Given the description of an element on the screen output the (x, y) to click on. 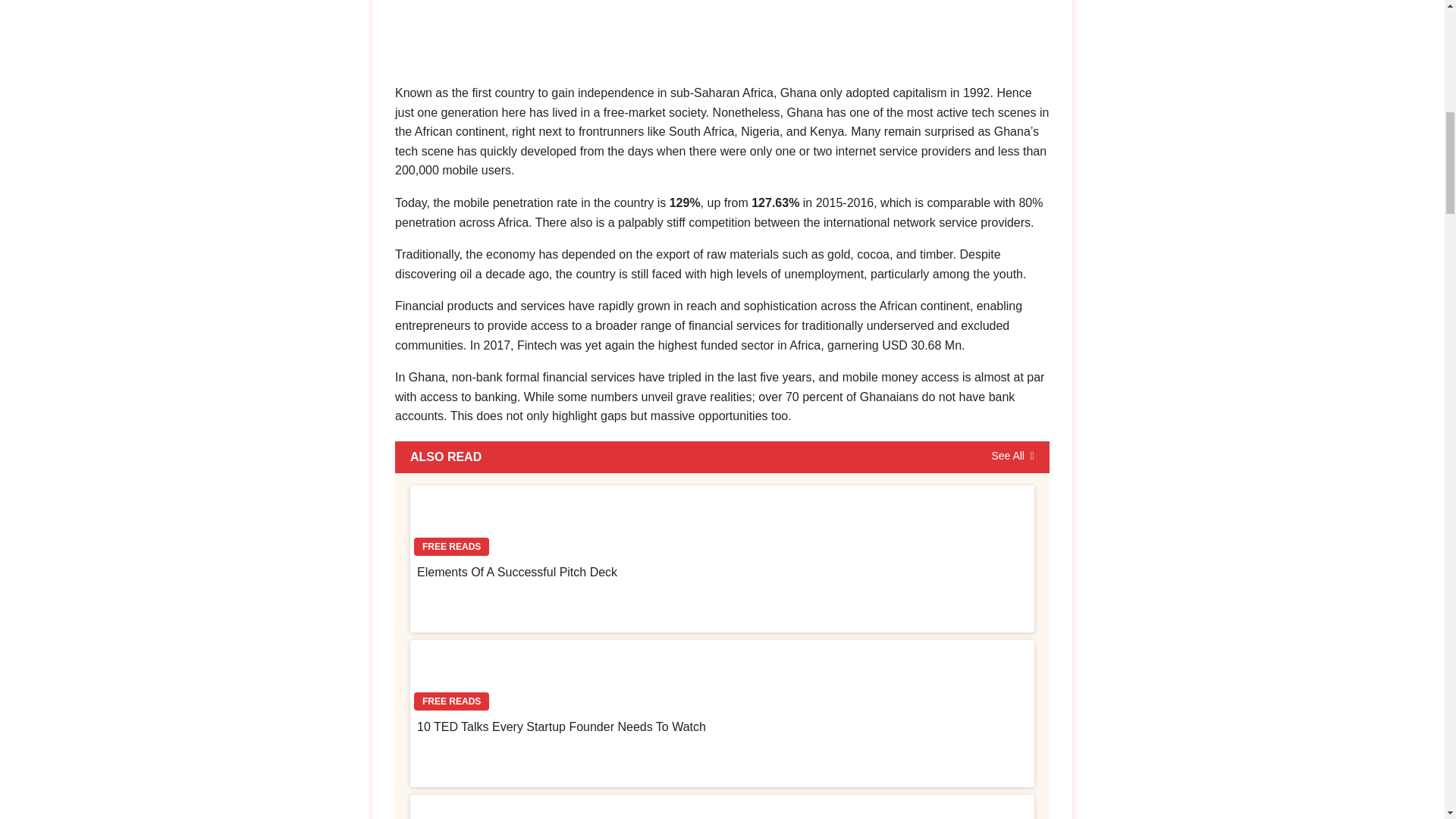
10 TED Talks Every Startup Founder Needs To Watch (561, 726)
FREE READS (721, 677)
FREE READS (721, 806)
See All (1012, 456)
Elements Of A Successful Pitch Deck (516, 571)
FREE READS (721, 523)
